Given the description of an element on the screen output the (x, y) to click on. 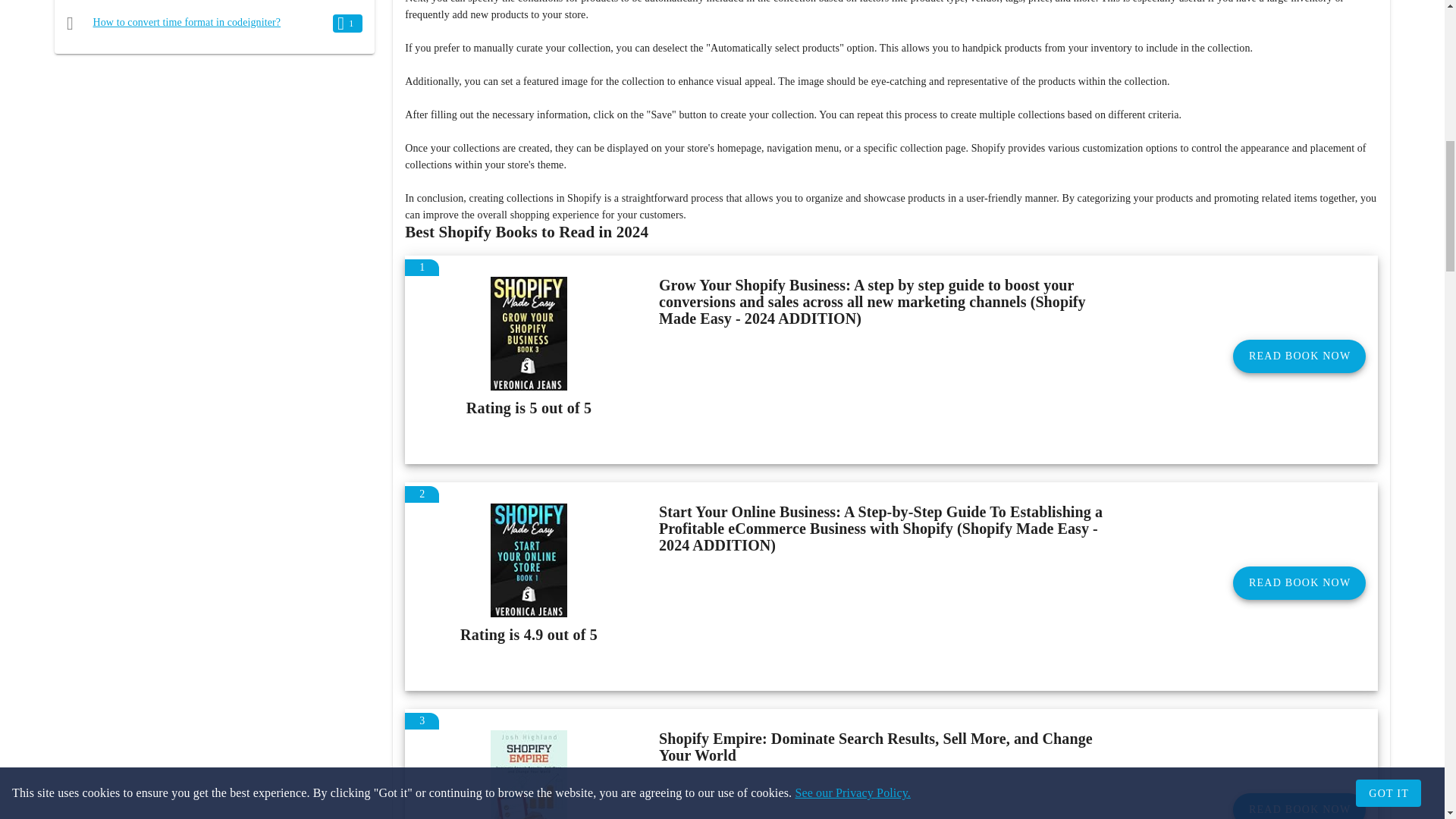
READ BOOK NOW (1299, 582)
READ BOOK NOW (1299, 806)
How to convert time format in codeigniter? (187, 21)
How to convert time format in codeigniter? (187, 21)
READ BOOK NOW (1299, 356)
